Given the description of an element on the screen output the (x, y) to click on. 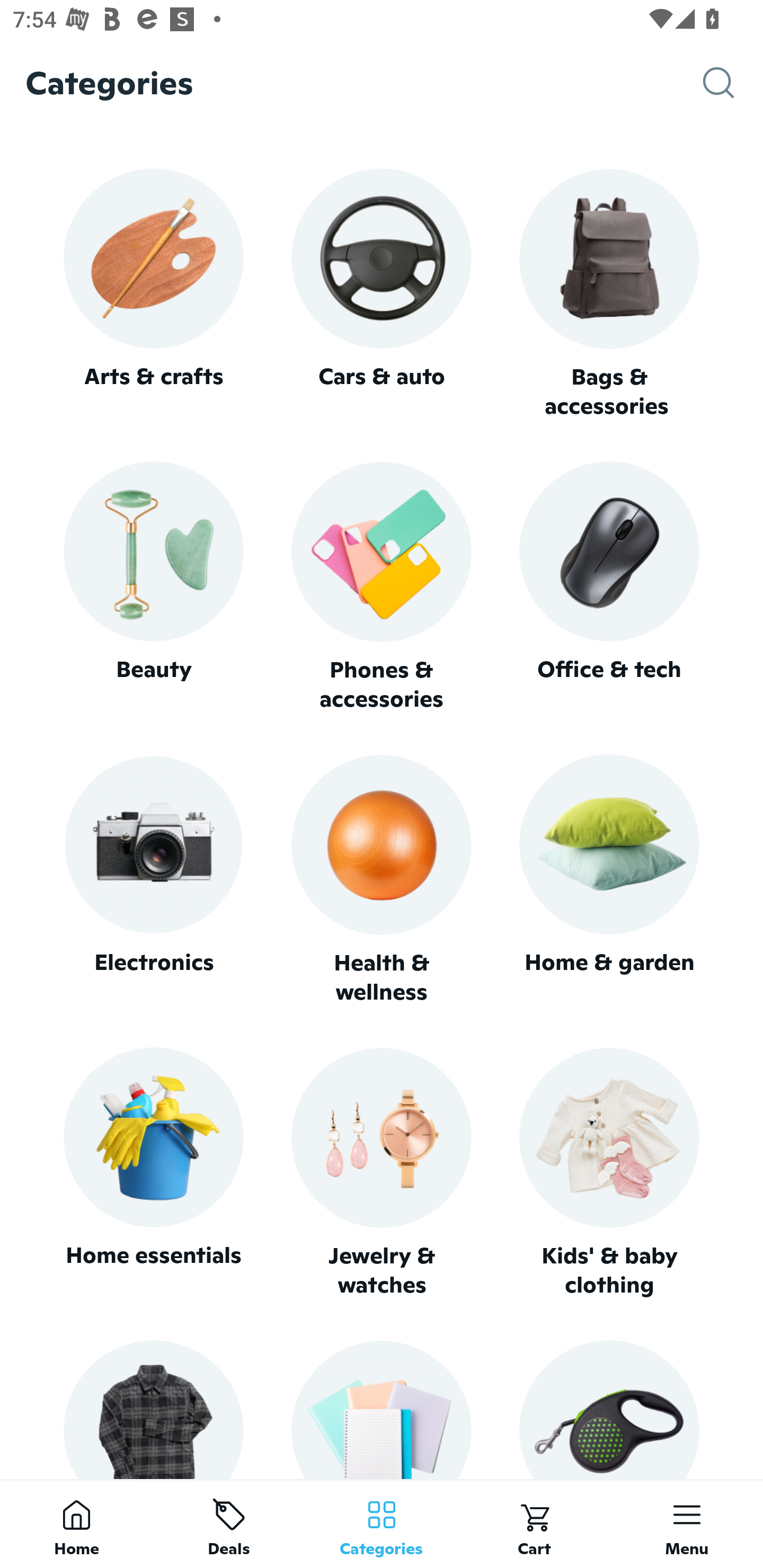
Search (732, 82)
Arts & crafts (153, 293)
Cars & auto (381, 293)
Bags & accessories  (609, 294)
Beauty (153, 586)
Office & tech (609, 586)
Phones & accessories (381, 587)
Electronics (153, 880)
Home & garden (609, 880)
Health & wellness (381, 880)
Home essentials (153, 1172)
Jewelry & watches (381, 1172)
Kids' & baby clothing (609, 1172)
Men's clothing (153, 1409)
Pet supplies (609, 1409)
Office & school supplies (381, 1409)
Home (76, 1523)
Deals (228, 1523)
Categories (381, 1523)
Cart (533, 1523)
Menu (686, 1523)
